Given the description of an element on the screen output the (x, y) to click on. 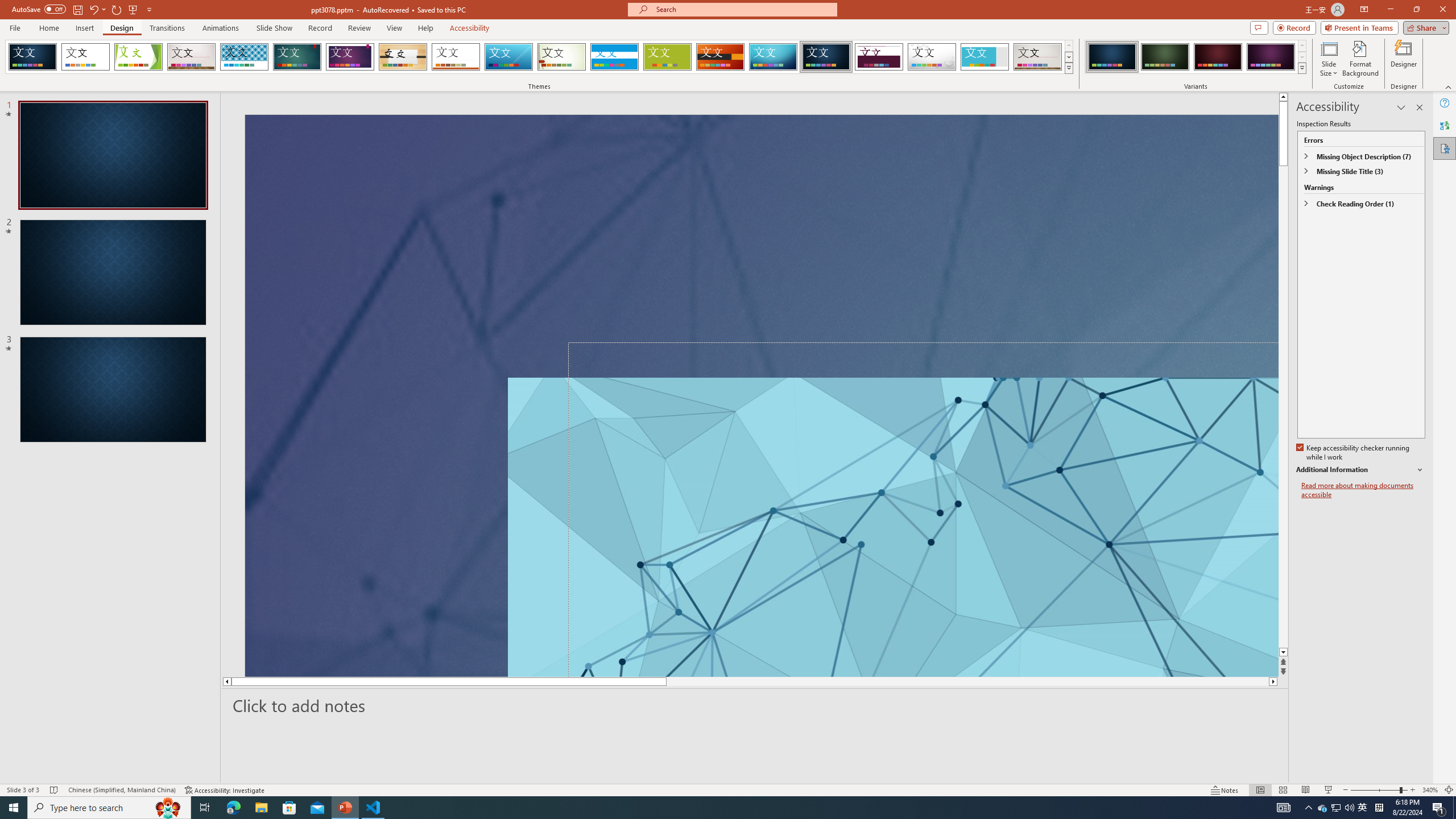
Read more about making documents accessible (1363, 489)
Translator (1444, 125)
Damask Variant 1 (1112, 56)
